Given the description of an element on the screen output the (x, y) to click on. 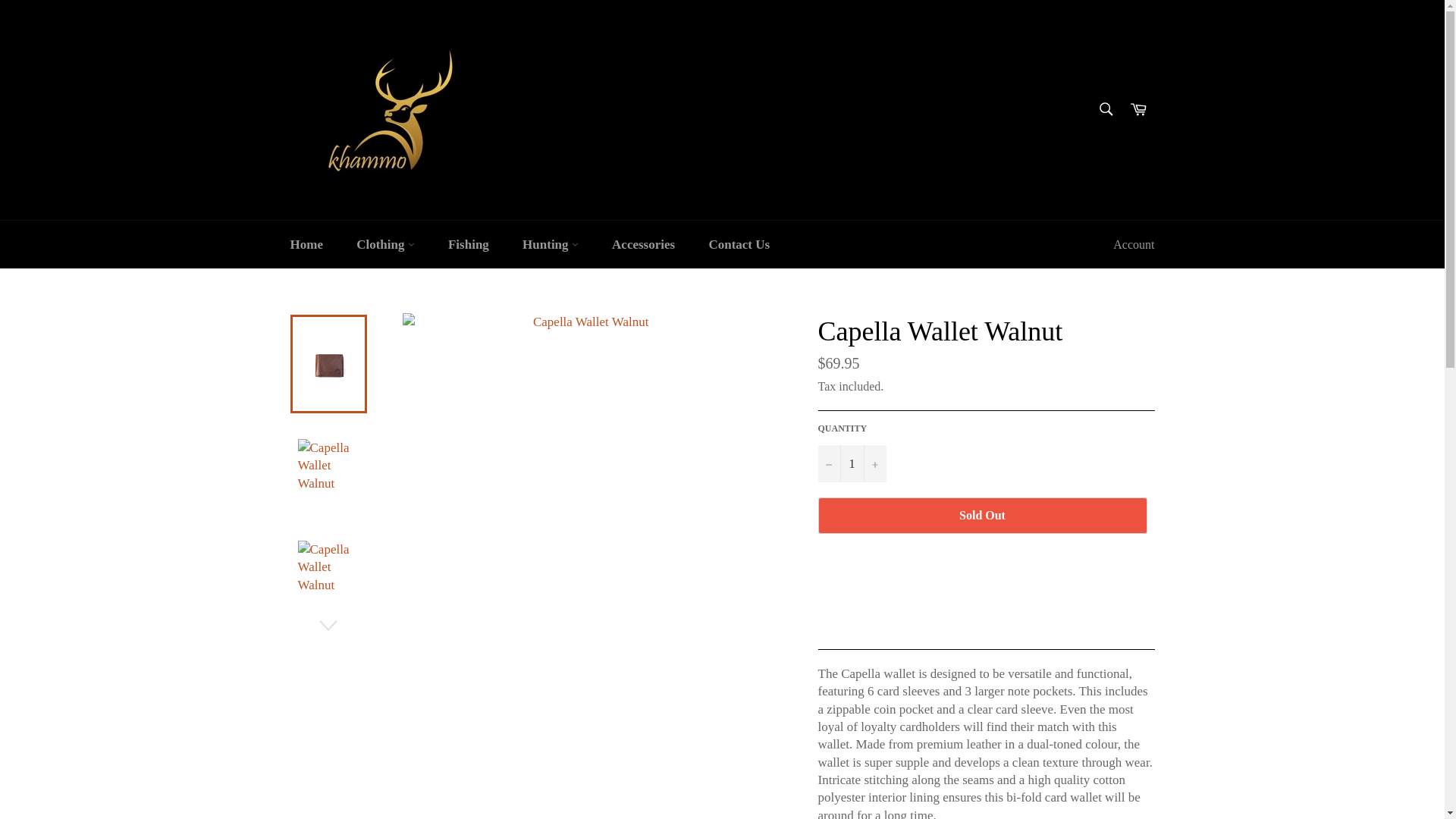
Cart (1138, 109)
Search (1104, 108)
Home (306, 244)
Clothing (384, 244)
1 (850, 463)
